Given the description of an element on the screen output the (x, y) to click on. 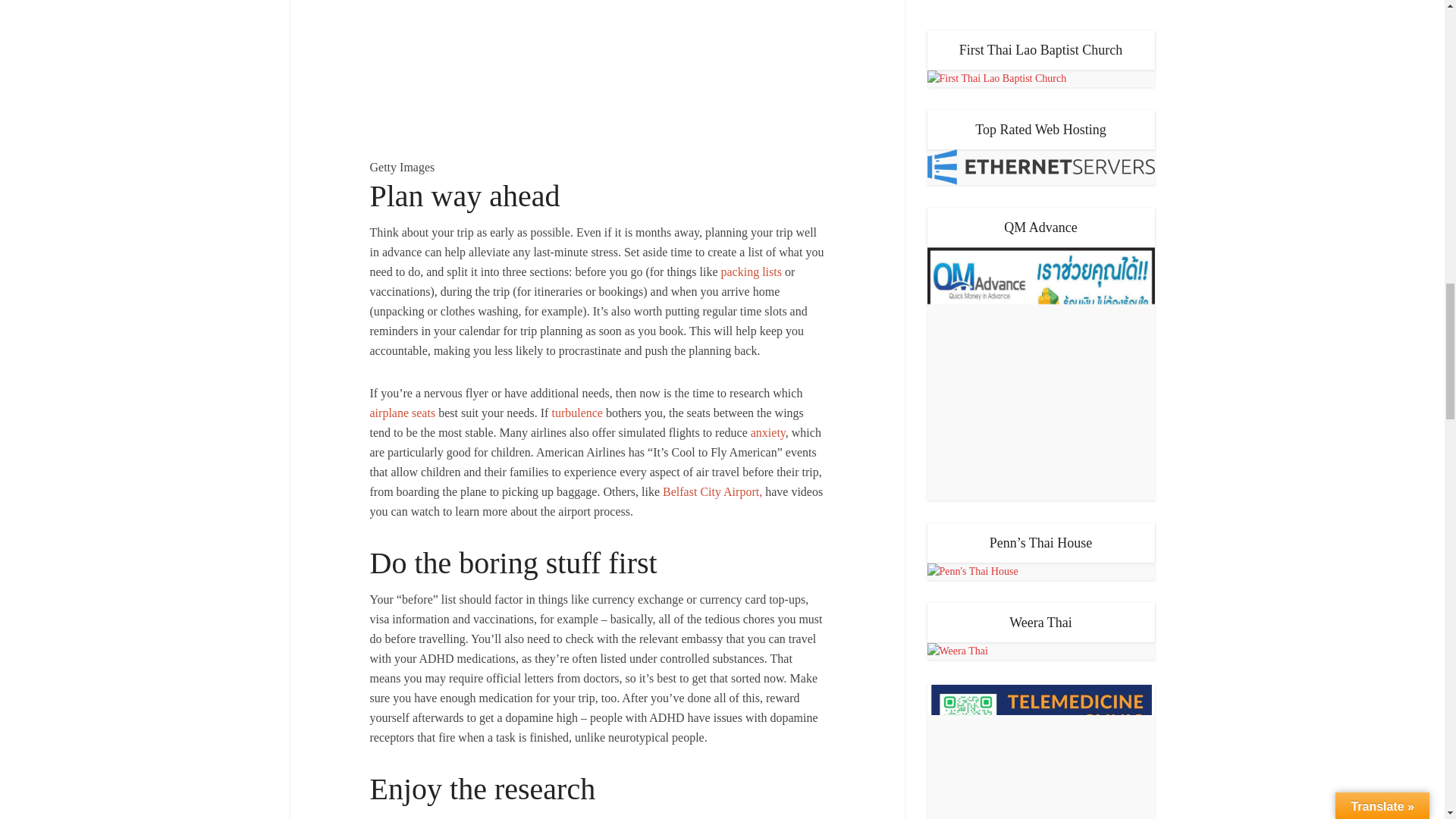
turbulence (576, 412)
packing lists (750, 271)
airplane seats (402, 412)
